Given the description of an element on the screen output the (x, y) to click on. 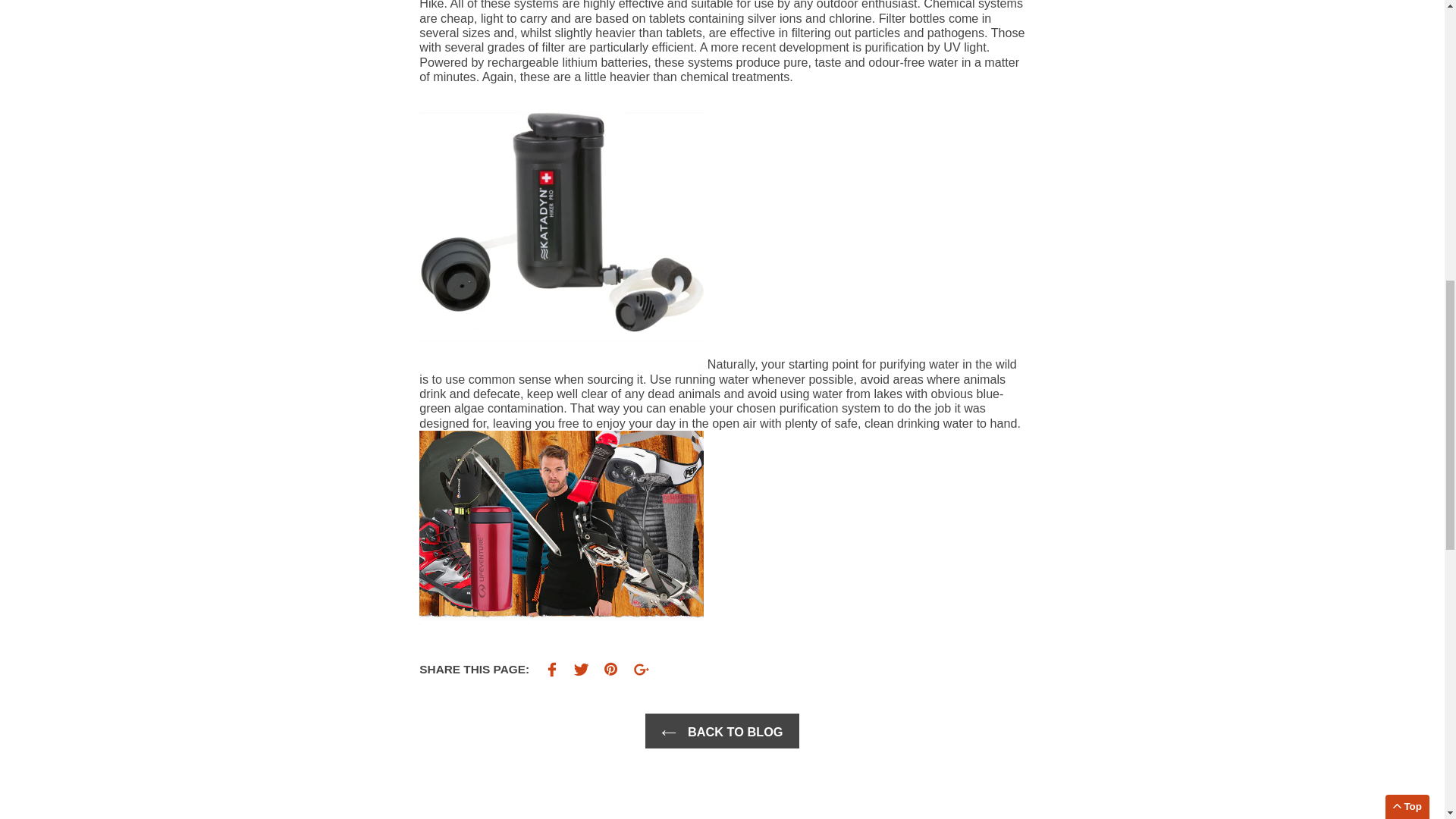
Pin on Pinterest (641, 669)
Tweet on Twitter (581, 669)
Share on Facebook (551, 669)
Pin on Pinterest (612, 669)
